Given the description of an element on the screen output the (x, y) to click on. 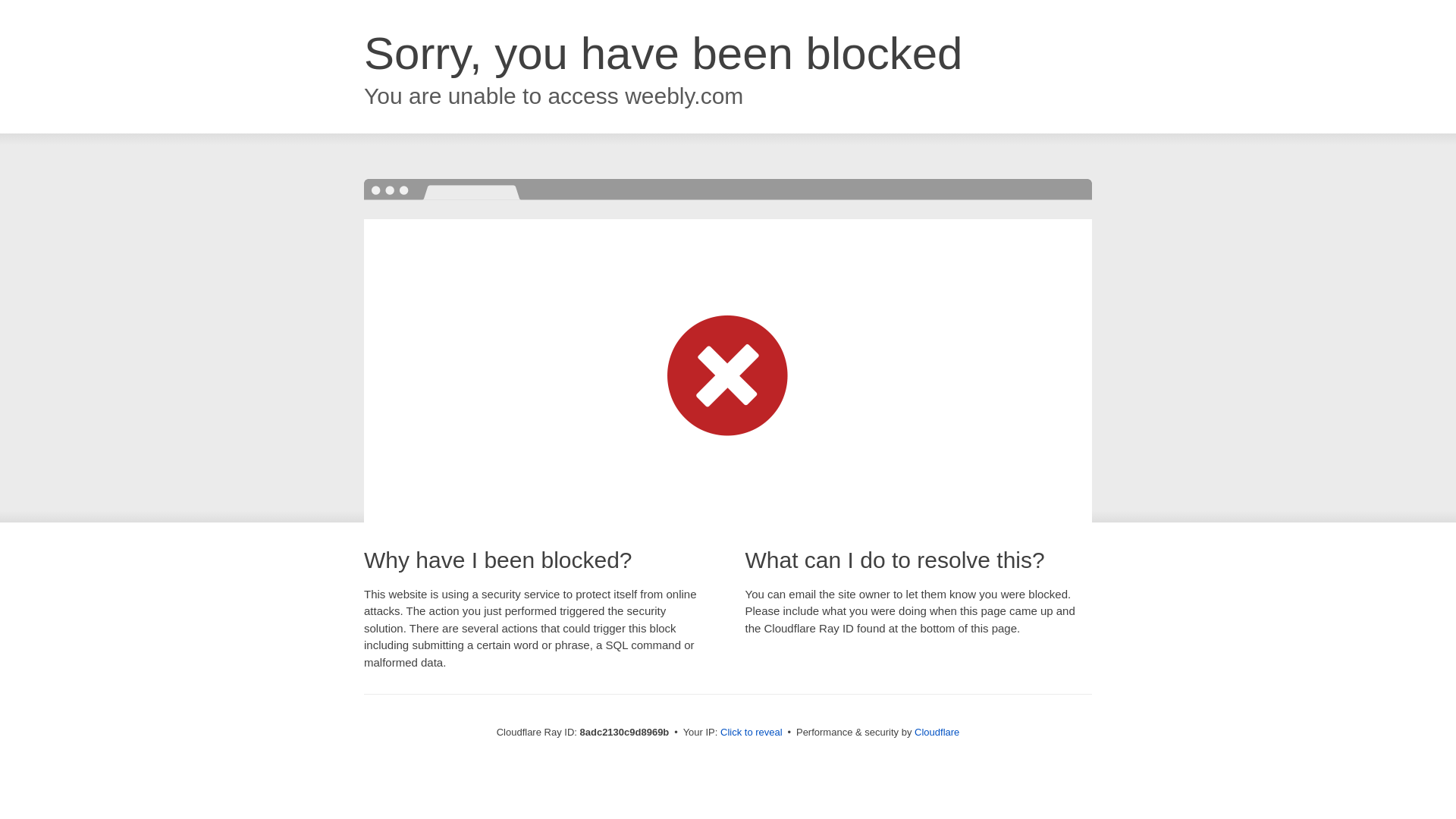
Click to reveal (751, 732)
Cloudflare (936, 731)
